Given the description of an element on the screen output the (x, y) to click on. 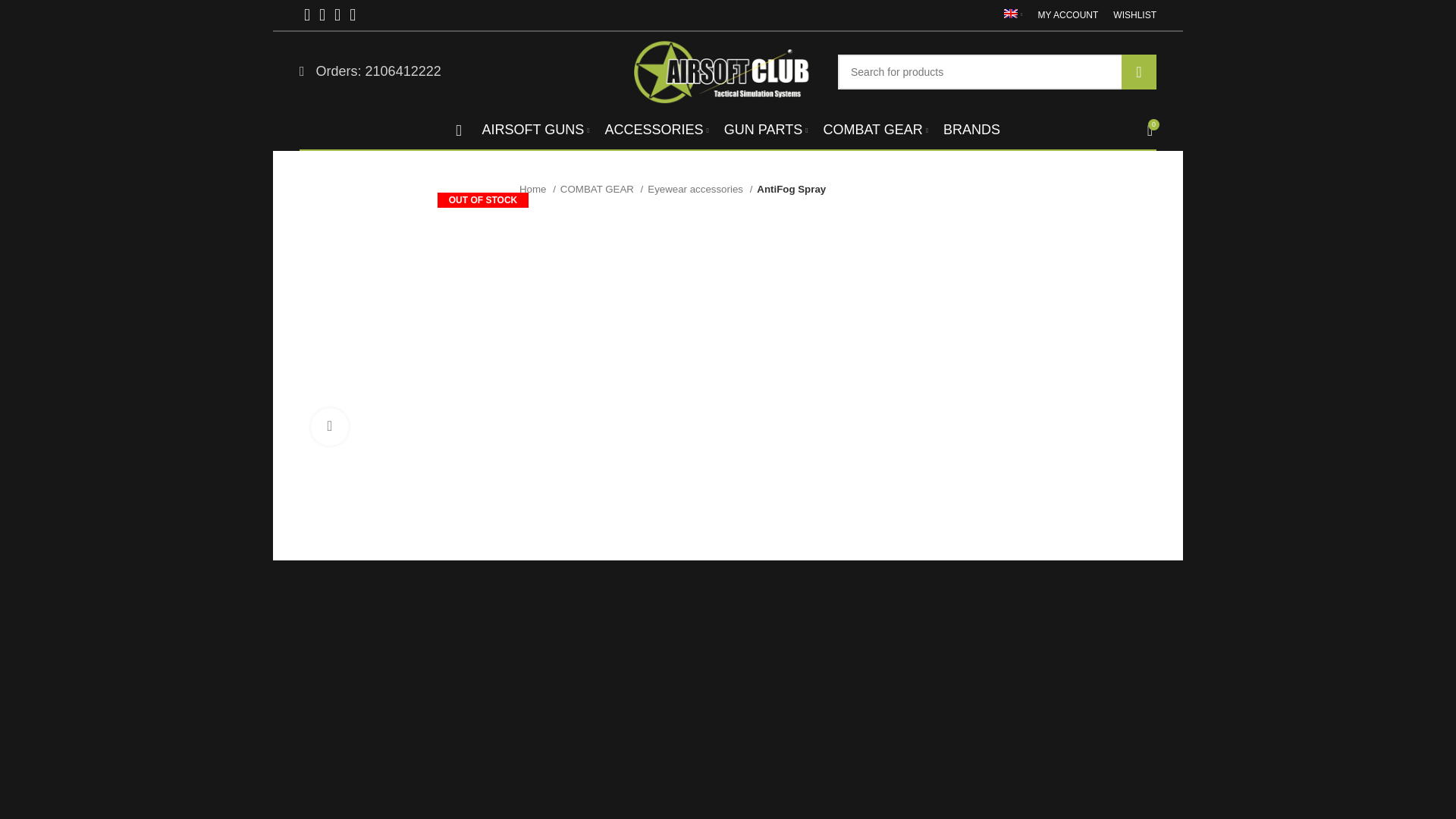
Search for products (997, 71)
MY ACCOUNT (1068, 15)
WISHLIST (1134, 15)
SEARCH (1138, 71)
AIRSOFT GUNS (535, 130)
